Given the description of an element on the screen output the (x, y) to click on. 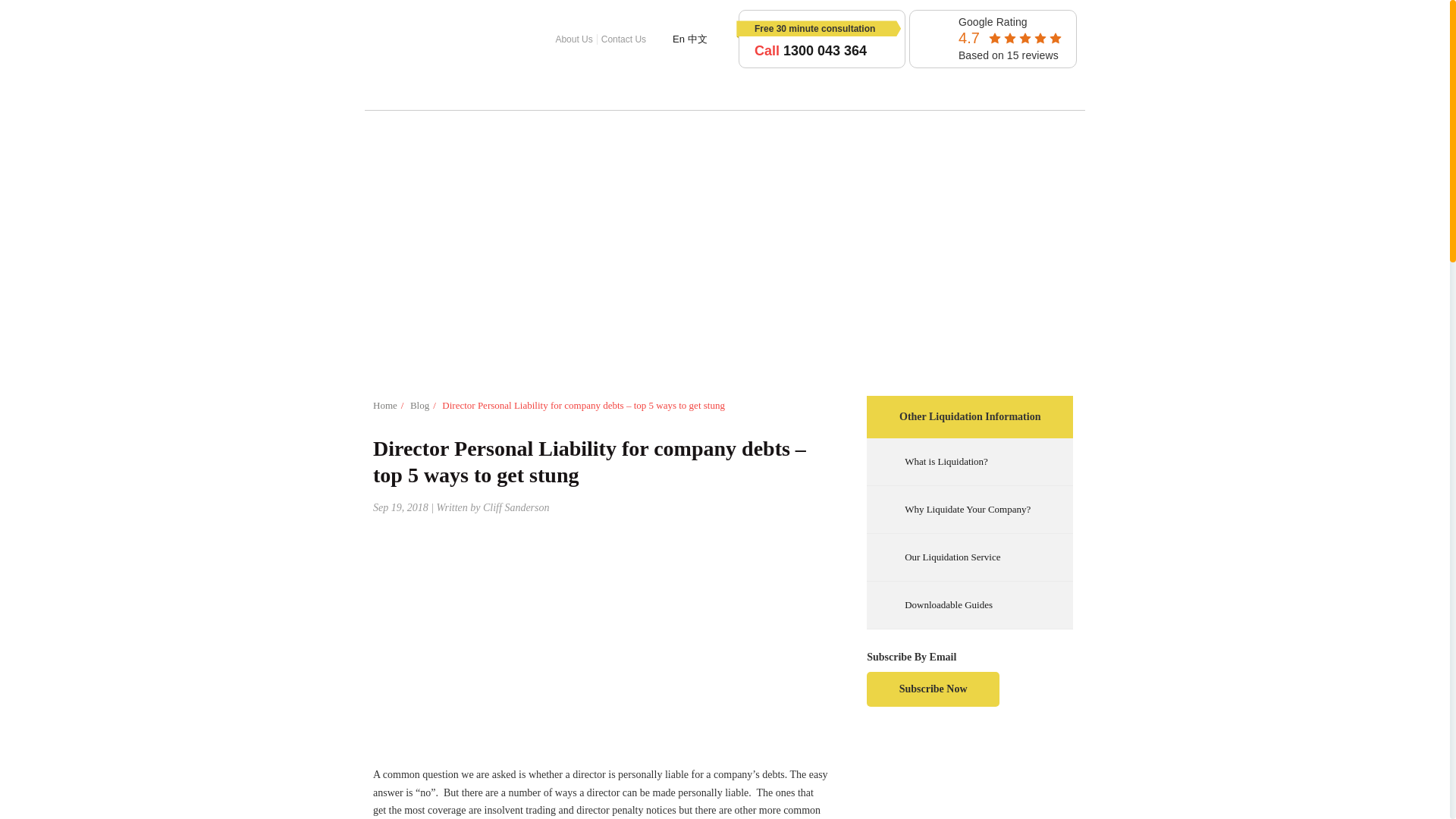
Contact Us (622, 39)
1300 043 364 (824, 50)
About Us (573, 39)
logo (410, 39)
En (678, 39)
